Given the description of an element on the screen output the (x, y) to click on. 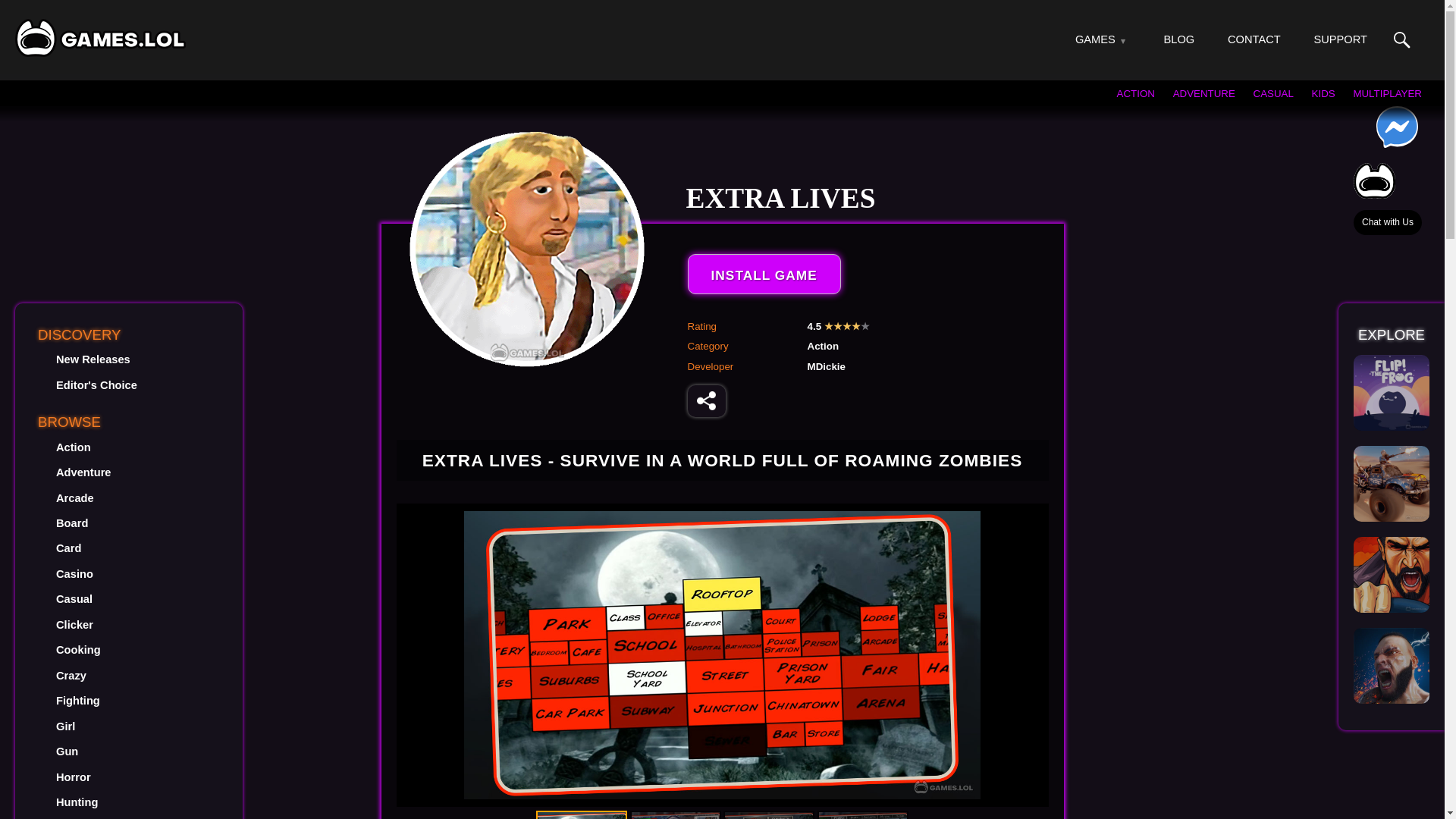
GAMES (1095, 39)
MULTIPLAYER (1387, 93)
Action (73, 447)
Adventure (83, 472)
Editor's Choice (96, 385)
New Releases (93, 358)
ACTION (1135, 93)
CASUAL (1273, 93)
BLOG (1179, 39)
KIDS (1323, 93)
CONTACT (1254, 39)
Play Evil Lands: Online Action RPG on PC (1391, 665)
SUPPORT (1340, 39)
Games.lol free game download website logo (100, 37)
ADVENTURE (1203, 93)
